Given the description of an element on the screen output the (x, y) to click on. 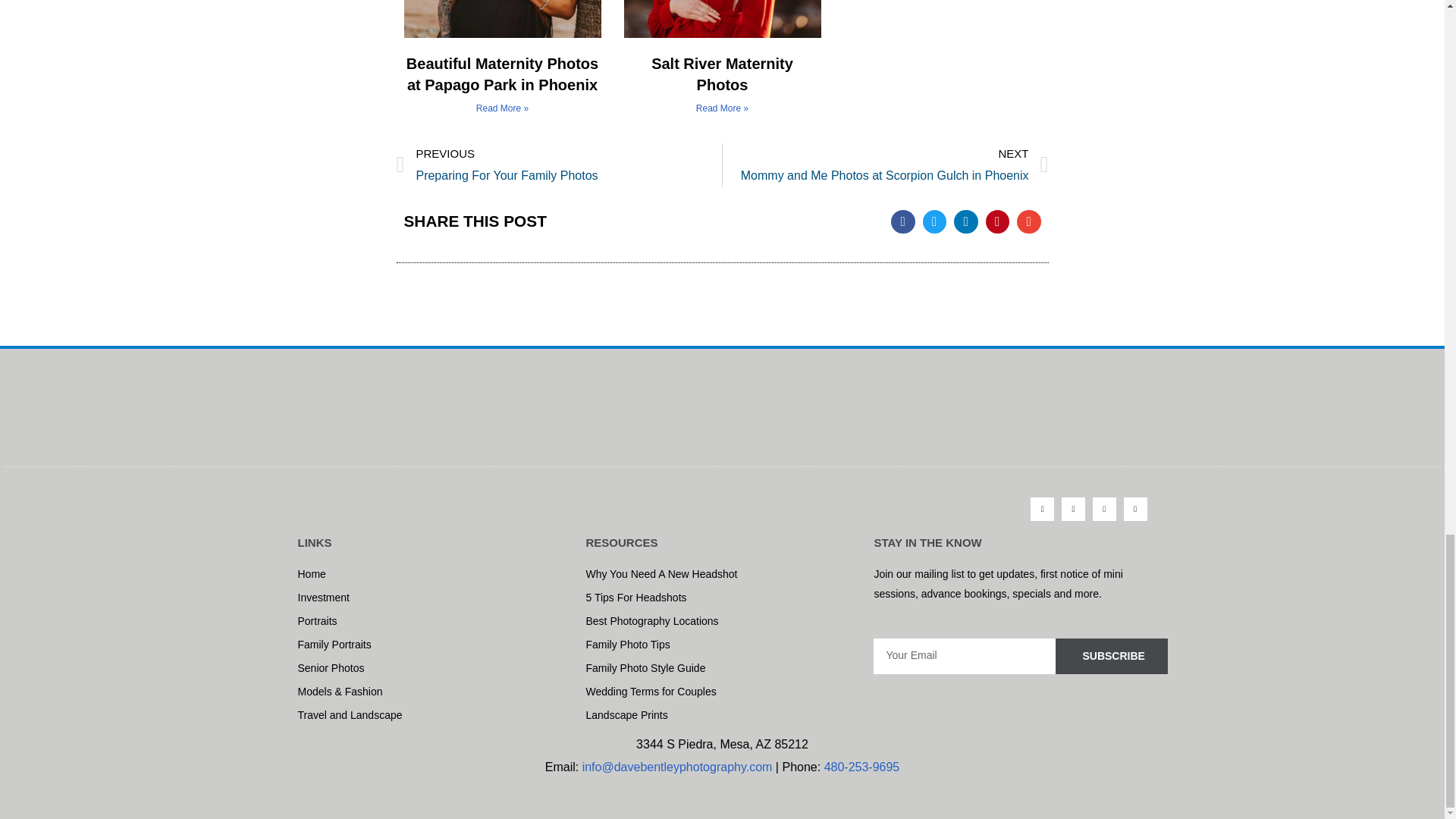
Instagram (885, 165)
Salt River Maternity Photos (1042, 508)
Beautiful Maternity Photos at Papago Park in Phoenix (559, 165)
